Given the description of an element on the screen output the (x, y) to click on. 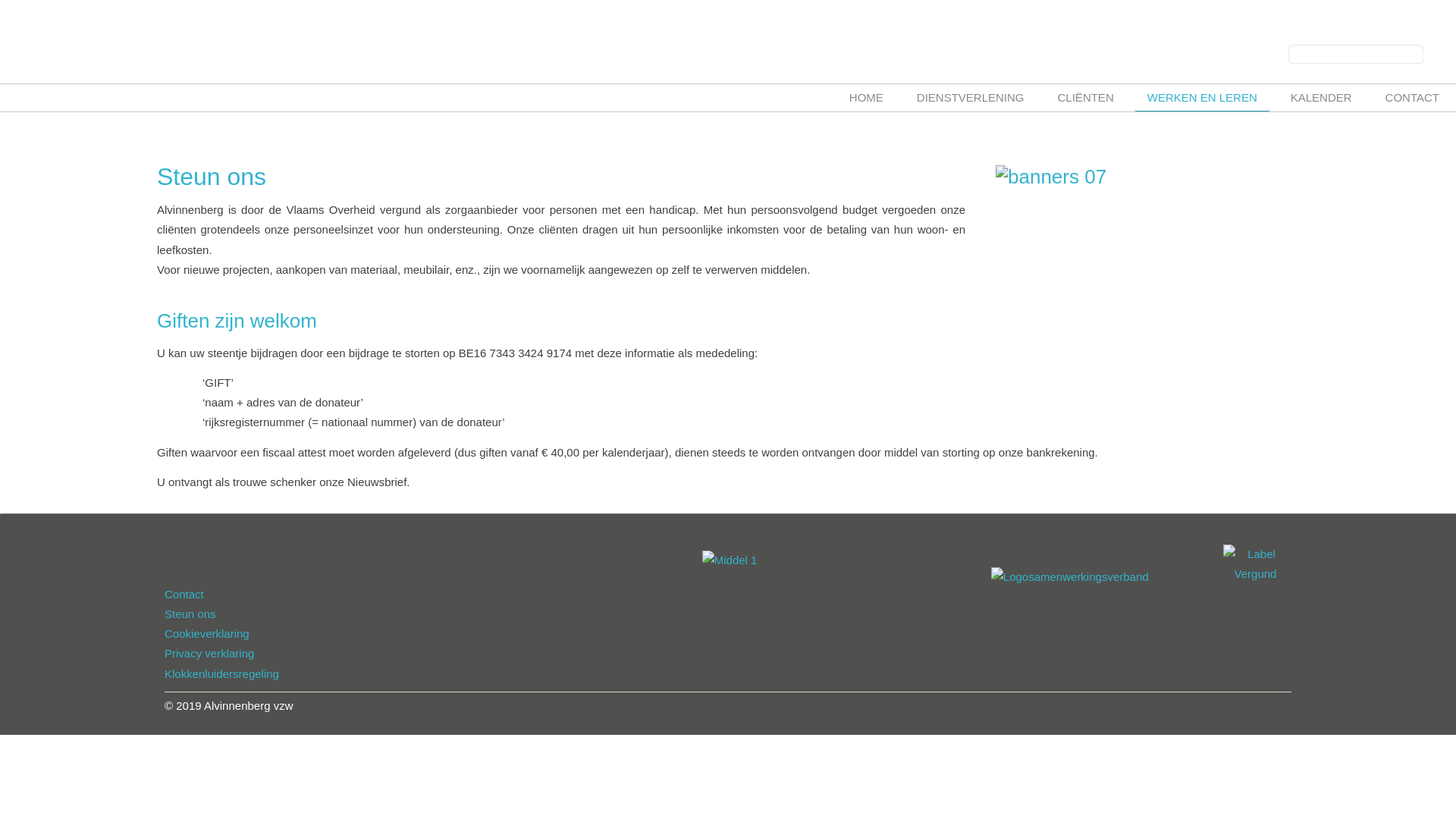
Contact Element type: text (183, 593)
WERKEN EN LEREN Element type: text (1202, 97)
KALENDER Element type: text (1321, 97)
DIENSTVERLENING Element type: text (970, 97)
HOME Element type: text (866, 97)
Klokkenluidersregeling Element type: text (221, 673)
Steun ons Element type: text (190, 613)
Privacy verklaring Element type: text (209, 652)
Search Element type: text (1414, 53)
tRede vzw Element type: hover (1069, 576)
Cookieverklaring Element type: text (206, 633)
CONTACT Element type: text (1412, 97)
Trooper Element type: hover (729, 559)
